Given the description of an element on the screen output the (x, y) to click on. 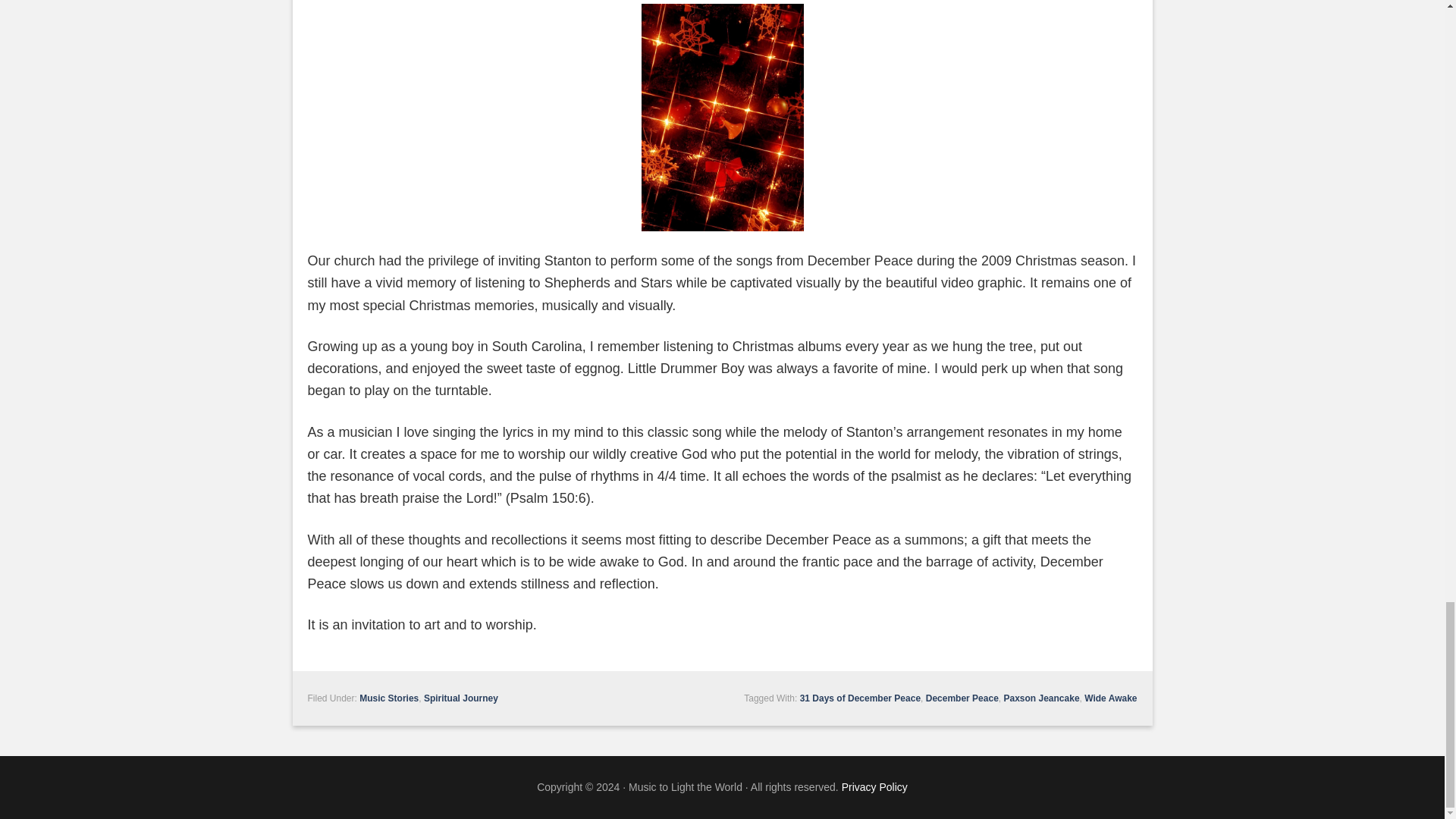
Christmas Tree Lights (722, 117)
